Given the description of an element on the screen output the (x, y) to click on. 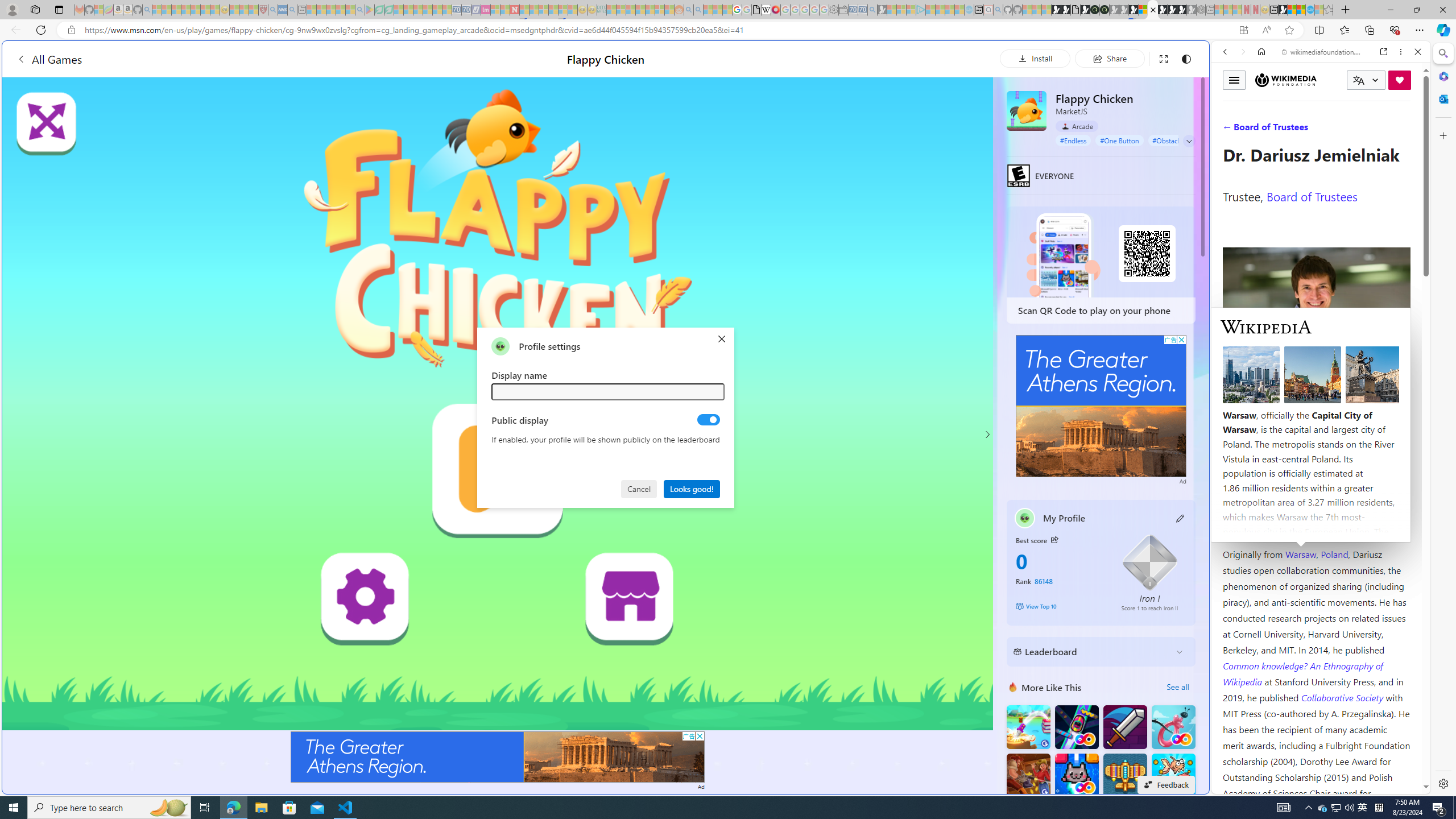
Harvard University (1259, 526)
Terms of Use Agreement - Sleeping (378, 9)
Full screen (1163, 58)
Flappy Chicken (1026, 110)
Collaborative Society  (1343, 697)
Wiktionary (1315, 380)
